Given the description of an element on the screen output the (x, y) to click on. 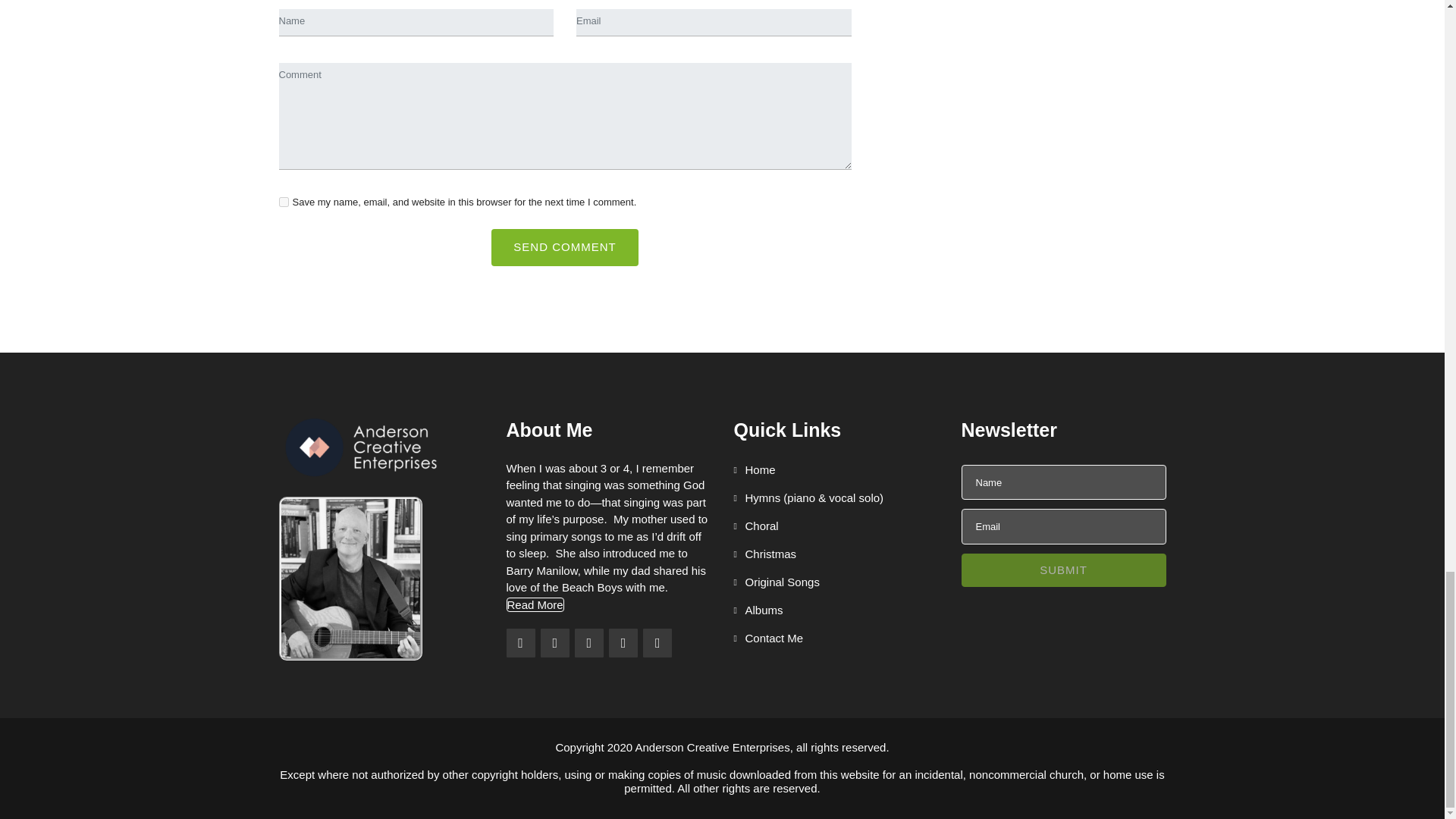
Read More (535, 604)
Submit (1063, 570)
Home (754, 469)
Choral (755, 526)
Contact Me (768, 638)
Original Songs (776, 582)
Submit (1063, 570)
Albums (758, 609)
Send comment (564, 247)
Christmas (764, 554)
